Given the description of an element on the screen output the (x, y) to click on. 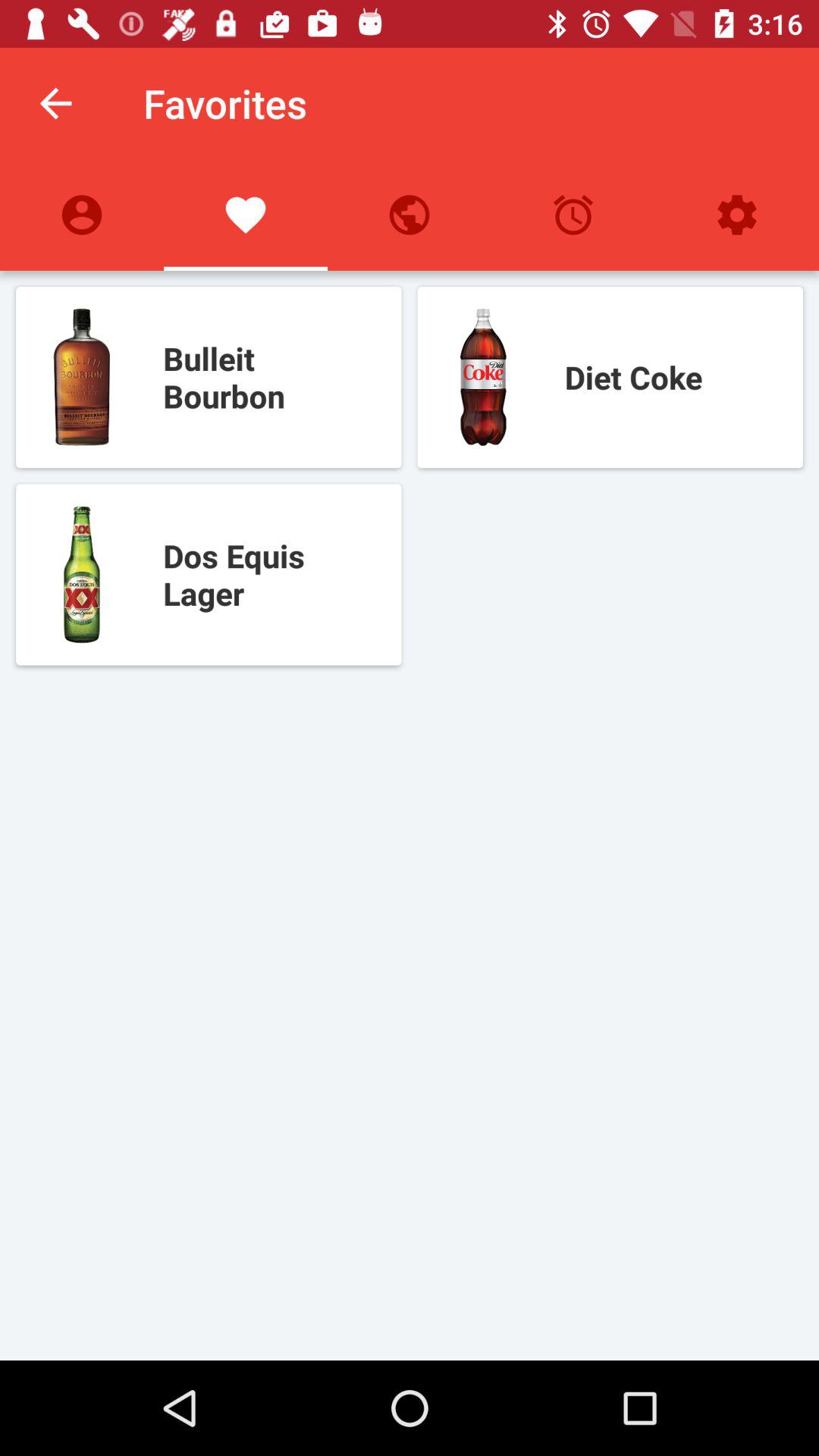
open item to the left of the favorites item (55, 103)
